Given the description of an element on the screen output the (x, y) to click on. 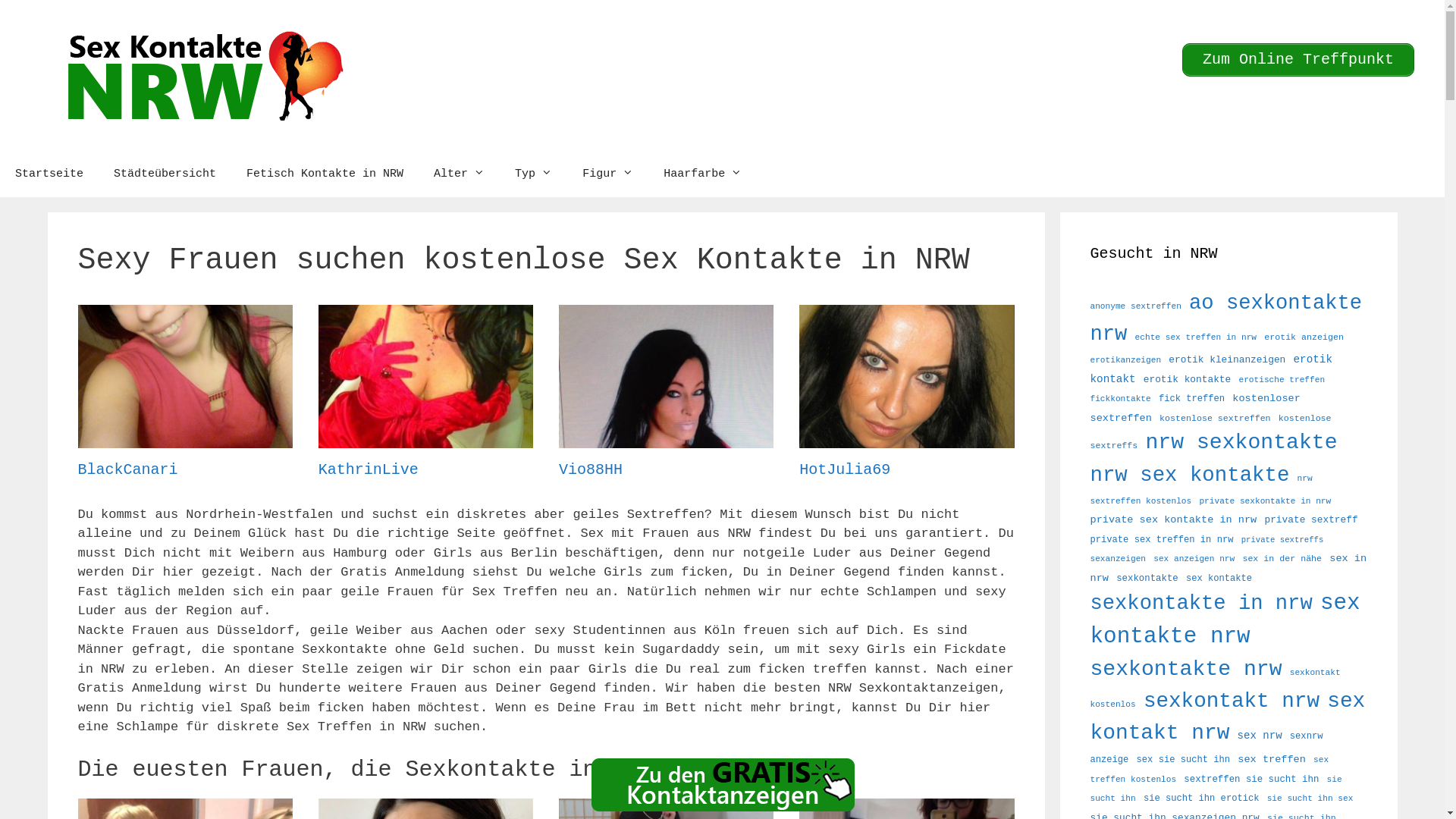
nrw sexkontakte Element type: text (1240, 442)
erotik kleinanzeigen Element type: text (1226, 359)
private sextreffs Element type: text (1282, 539)
echte sex treffen in nrw Element type: text (1195, 337)
sex in nrw Element type: text (1228, 567)
erotische treffen Element type: text (1281, 379)
sex anzeigen nrw Element type: text (1193, 558)
sex treffen kostenlos Element type: text (1209, 769)
Figur Element type: text (607, 174)
ao sexkontakte nrw Element type: text (1226, 318)
sexkontakt kostenlos Element type: text (1215, 688)
Haarfarbe Element type: text (702, 174)
sie sucht ihn erotick Element type: text (1201, 798)
sexanzeigen Element type: text (1118, 558)
Fetisch Kontakte in NRW Element type: text (324, 174)
private sex kontakte in nrw Element type: text (1173, 519)
sex kontakt nrw Element type: text (1227, 716)
kostenlose sextreffen Element type: text (1214, 418)
Typ Element type: text (533, 174)
KathrinLive Element type: text (368, 469)
sexkontakte in nrw Element type: text (1201, 603)
sie sucht ihn sex Element type: text (1310, 798)
fick treffen Element type: text (1191, 398)
erotik anzeigen Element type: text (1303, 337)
KathrinLive Element type: hover (425, 437)
HotJulia69 Element type: hover (906, 437)
HotJulia69 Element type: text (844, 469)
nrw sex kontakte Element type: text (1189, 474)
BlackCanari Element type: text (127, 469)
private sexkontakte in nrw Element type: text (1264, 500)
nrw sextreffen kostenlos Element type: text (1201, 489)
Startseite Element type: text (49, 174)
anonyme sextreffen Element type: text (1135, 305)
Alter Element type: text (458, 174)
private sex treffen in nrw Element type: text (1161, 539)
sextreffen sie sucht ihn Element type: text (1250, 779)
erotik kontakt Element type: text (1211, 369)
sexnrw anzeige Element type: text (1206, 748)
sex sie sucht ihn Element type: text (1183, 759)
sex treffen Element type: text (1271, 759)
kostenloser sextreffen Element type: text (1195, 407)
sexkontakte Element type: text (1147, 578)
erotik kontakte Element type: text (1186, 379)
Zum Online Treffpunkt Element type: text (1298, 59)
sexkontakte nrw Element type: text (1186, 668)
sexkontakt nrw Element type: text (1231, 700)
Vio88HH Element type: text (590, 469)
erotikanzeigen Element type: text (1125, 359)
kostenlose sextreffs Element type: text (1210, 432)
private sextreff Element type: text (1310, 519)
BlackCanari Element type: hover (184, 437)
sex kontakte nrw Element type: text (1225, 619)
sie sucht ihn Element type: text (1216, 789)
fickkontakte Element type: text (1120, 398)
Vio88HH Element type: hover (665, 437)
sex kontakte Element type: text (1219, 578)
sex nrw Element type: text (1259, 735)
